Given the description of an element on the screen output the (x, y) to click on. 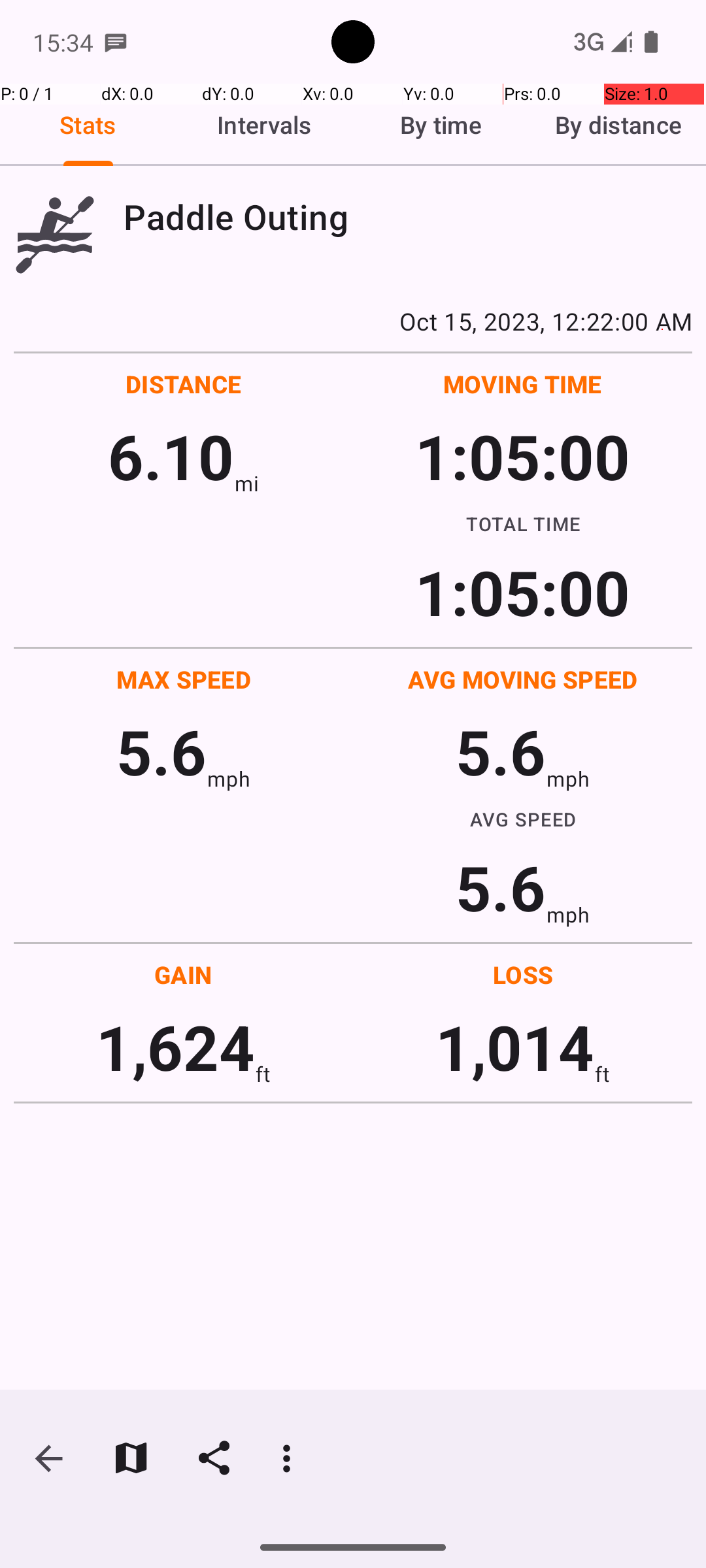
Paddle Outing Element type: android.widget.TextView (407, 216)
Oct 15, 2023, 12:22:00 AM Element type: android.widget.TextView (352, 320)
MOVING TIME Element type: android.widget.TextView (522, 383)
6.10 Element type: android.widget.TextView (170, 455)
mi Element type: android.widget.TextView (246, 483)
1:05:00 Element type: android.widget.TextView (522, 455)
TOTAL TIME Element type: android.widget.TextView (522, 523)
MAX SPEED Element type: android.widget.TextView (183, 678)
AVG MOVING SPEED Element type: android.widget.TextView (522, 678)
5.6 Element type: android.widget.TextView (161, 750)
mph Element type: android.widget.TextView (228, 778)
AVG SPEED Element type: android.widget.TextView (522, 818)
GAIN Element type: android.widget.TextView (183, 974)
LOSS Element type: android.widget.TextView (522, 974)
1,624 Element type: android.widget.TextView (175, 1045)
ft Element type: android.widget.TextView (262, 1073)
1,014 Element type: android.widget.TextView (514, 1045)
